Given the description of an element on the screen output the (x, y) to click on. 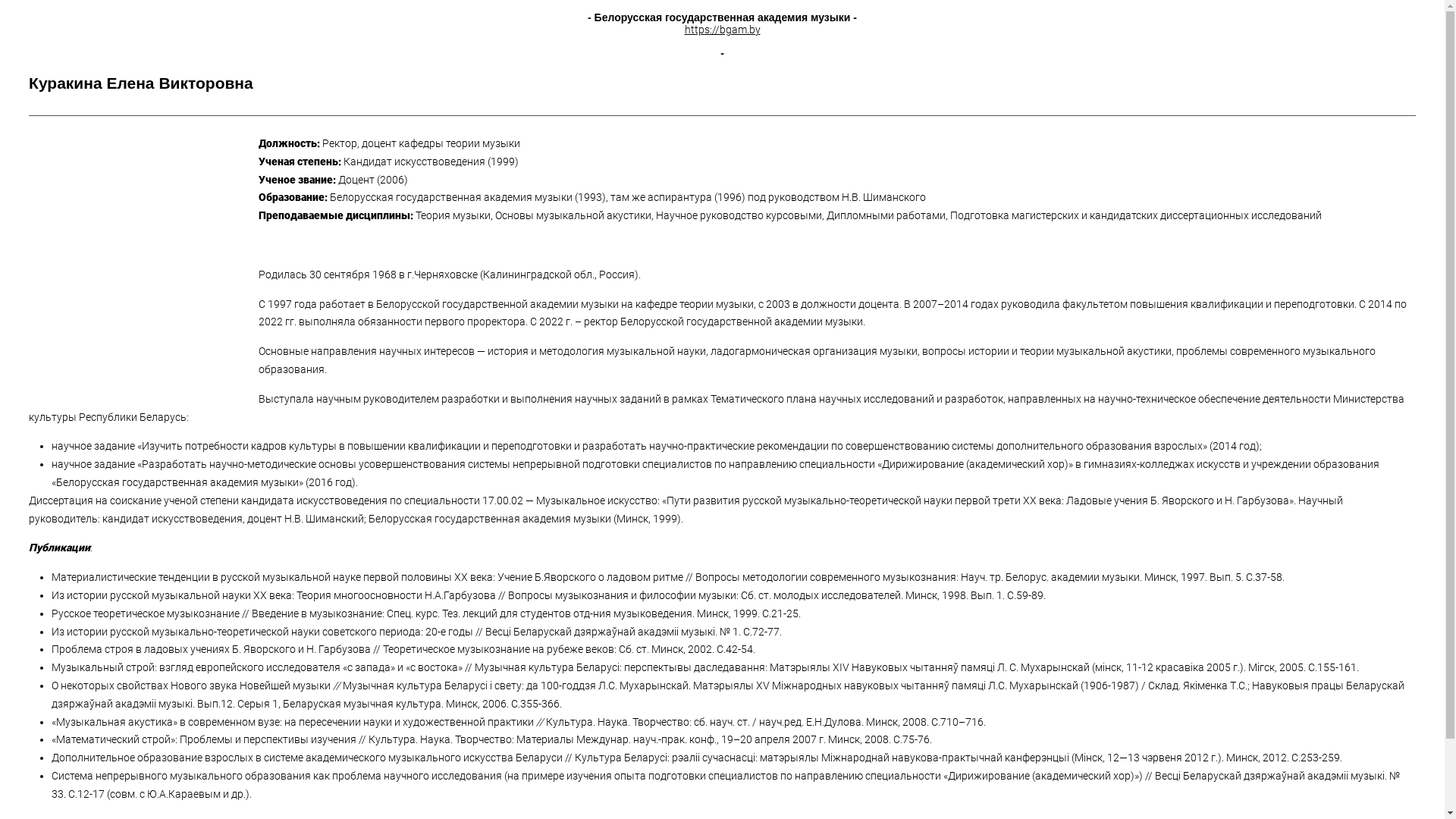
https://bgam.by Element type: text (721, 29)
